Given the description of an element on the screen output the (x, y) to click on. 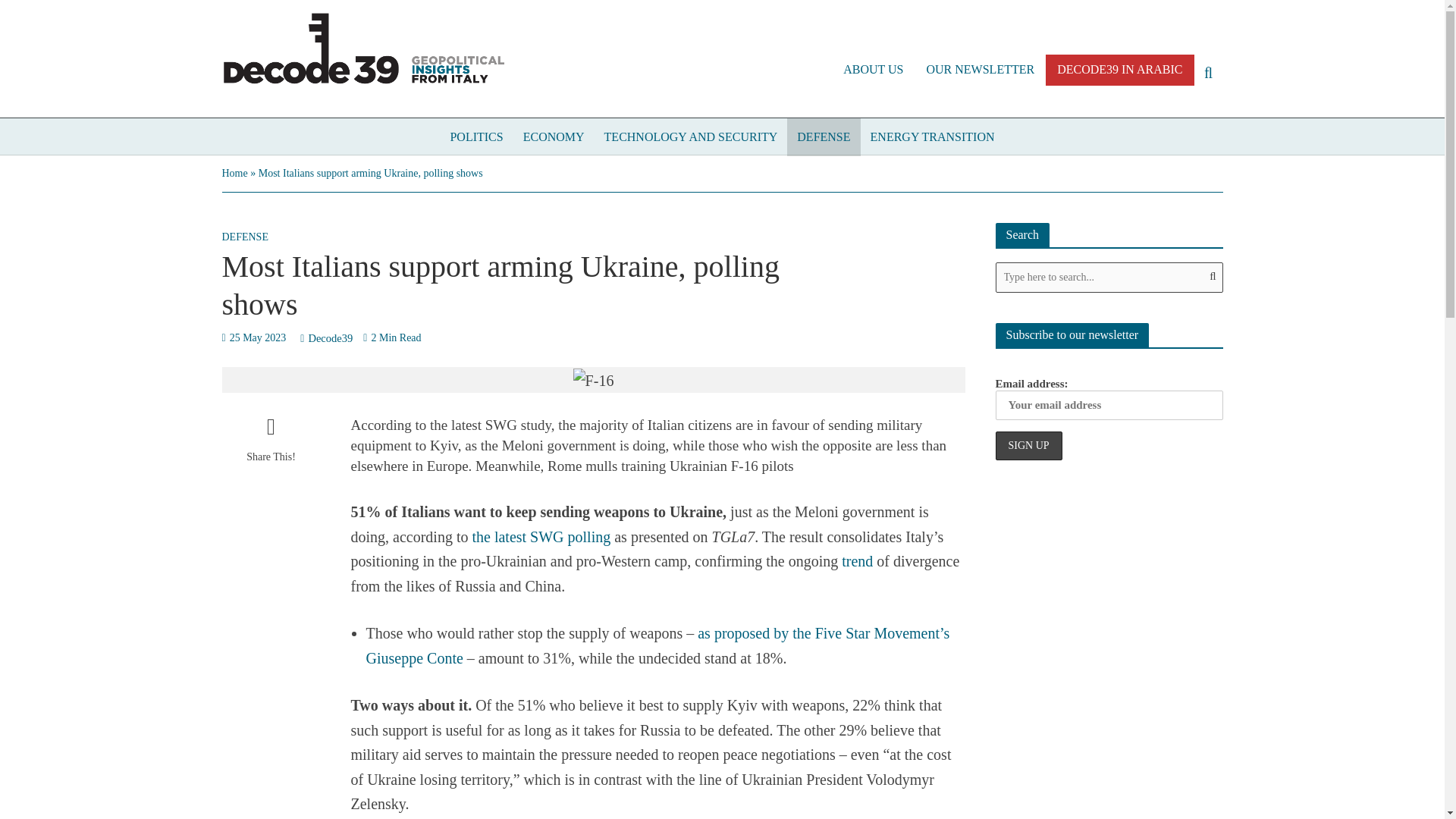
DEFENSE (823, 136)
DECODE39 IN ARABIC (1119, 69)
trend (856, 562)
Sign up (1027, 445)
Decode39 (329, 339)
DEFENSE (244, 239)
POLITICS (475, 136)
Home (234, 173)
TECHNOLOGY AND SECURITY (690, 136)
OUR NEWSLETTER (979, 69)
the latest SWG polling (540, 537)
ENERGY TRANSITION (932, 136)
ECONOMY (553, 136)
ABOUT US (872, 69)
